Given the description of an element on the screen output the (x, y) to click on. 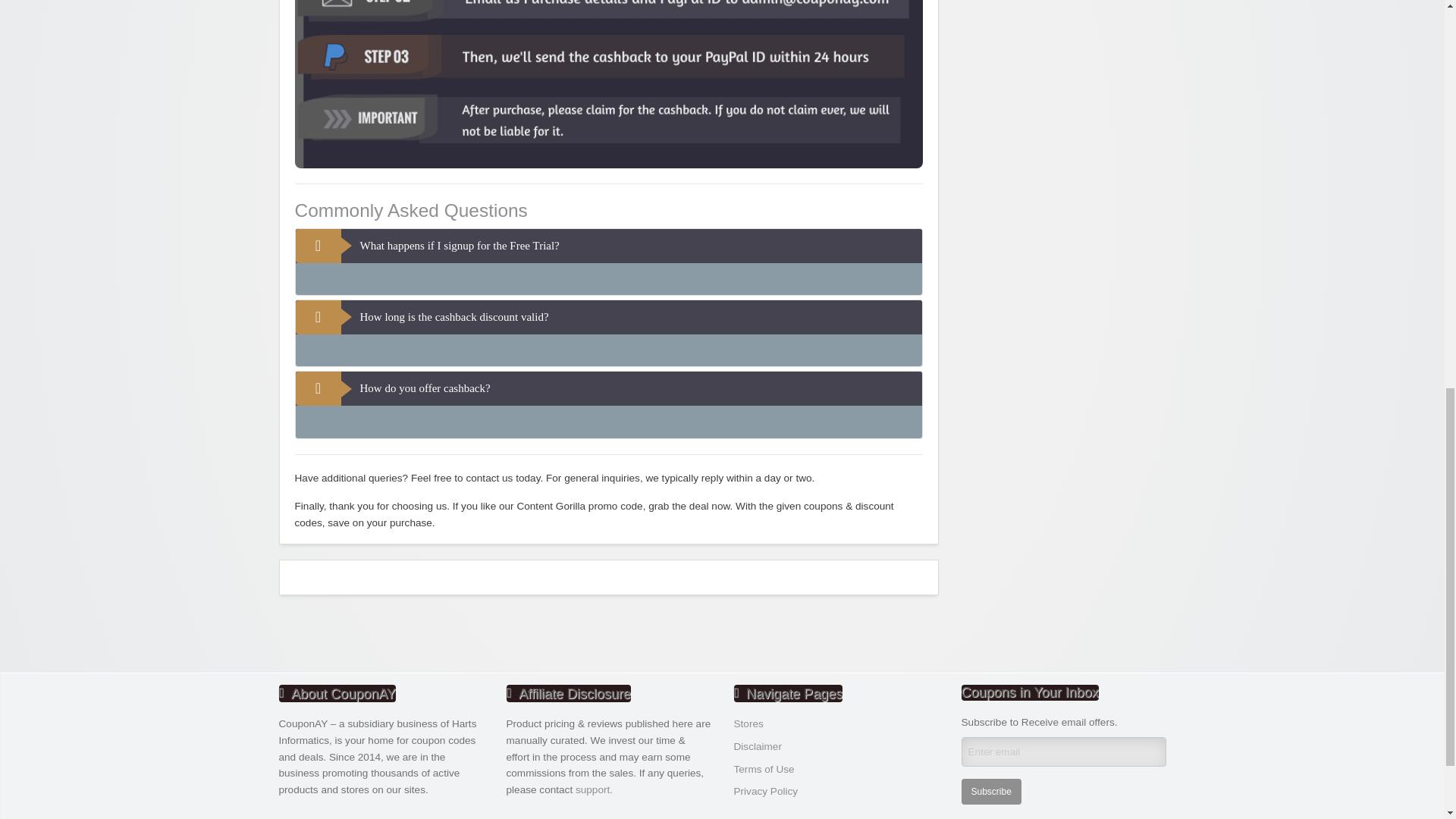
Subscribe (991, 791)
How do you offer cashback? (608, 388)
What happens if I signup for the Free Trial? (608, 245)
How long is the cashback discount valid? (608, 317)
Privacy Policy (765, 790)
Disclaimer (757, 746)
Terms of Use (763, 768)
support. (593, 789)
Stores (747, 723)
